Given the description of an element on the screen output the (x, y) to click on. 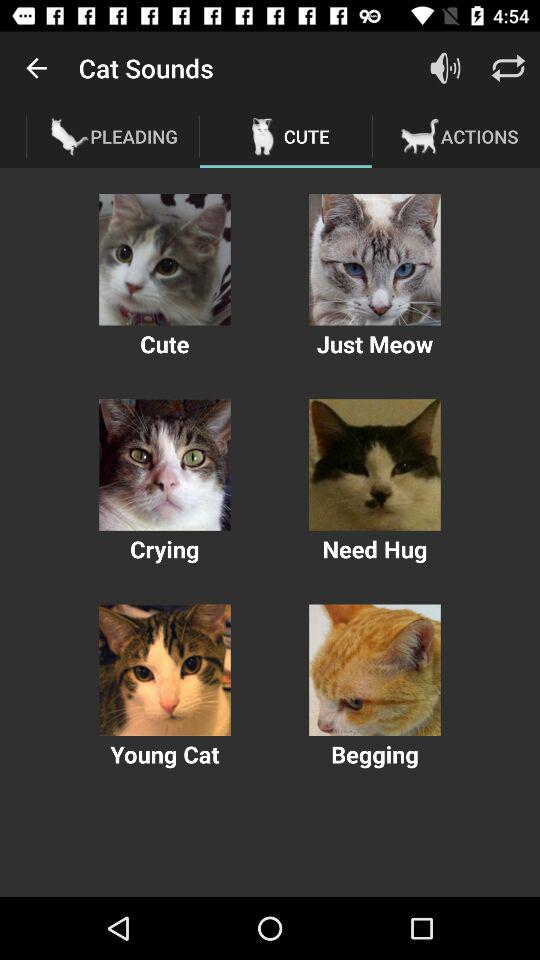
plays sound of cat just meowing (374, 259)
